Given the description of an element on the screen output the (x, y) to click on. 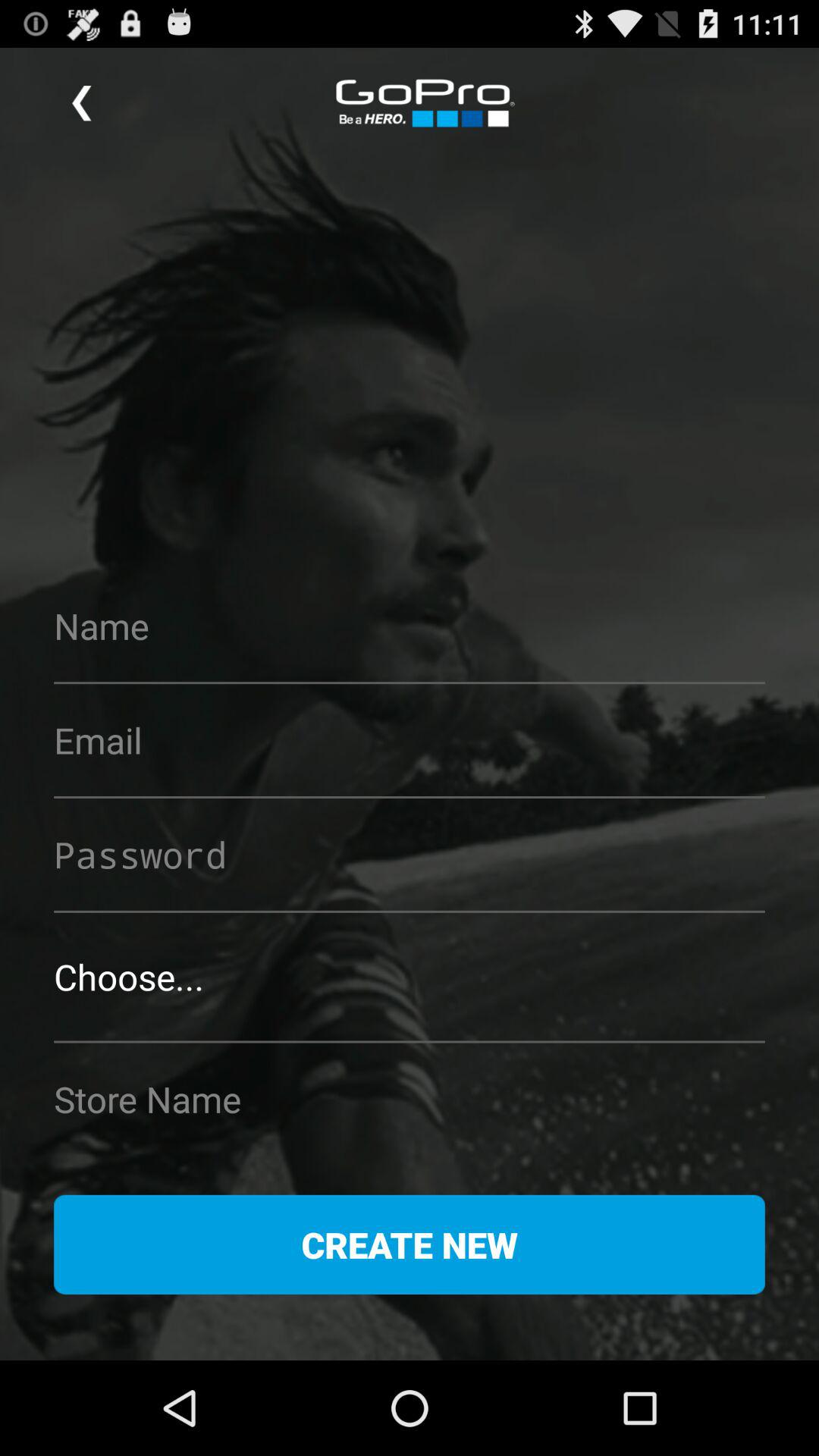
enter password here (409, 854)
